Given the description of an element on the screen output the (x, y) to click on. 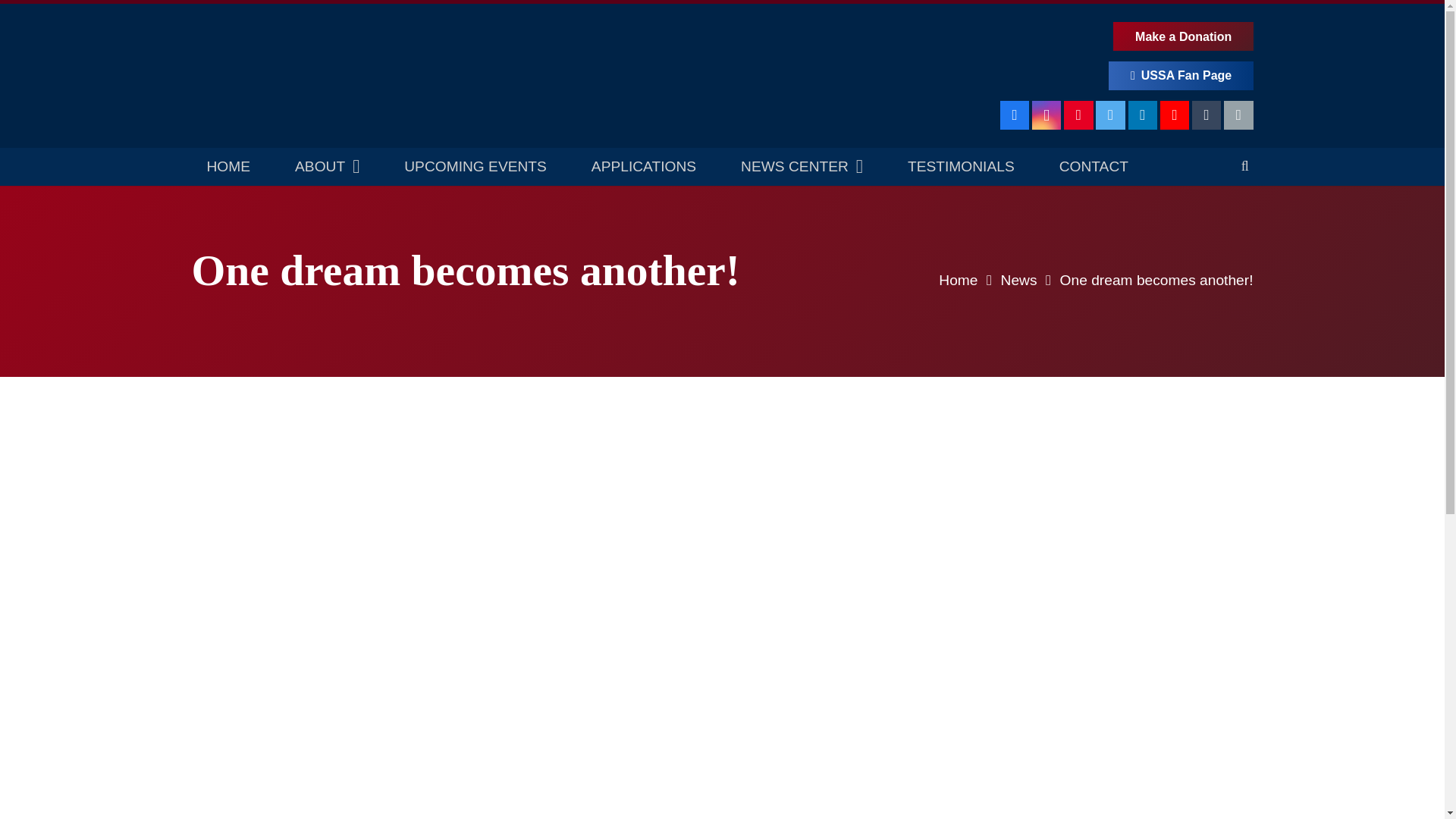
Pinterest (1078, 114)
USSA Fan Page (1180, 75)
YouTube (1174, 114)
Email (1238, 114)
Make a Donation (1183, 36)
APPLICATIONS (643, 166)
Tumblr (1206, 114)
ABOUT (326, 166)
Instagram (1046, 114)
LinkedIn (1142, 114)
